Given the description of an element on the screen output the (x, y) to click on. 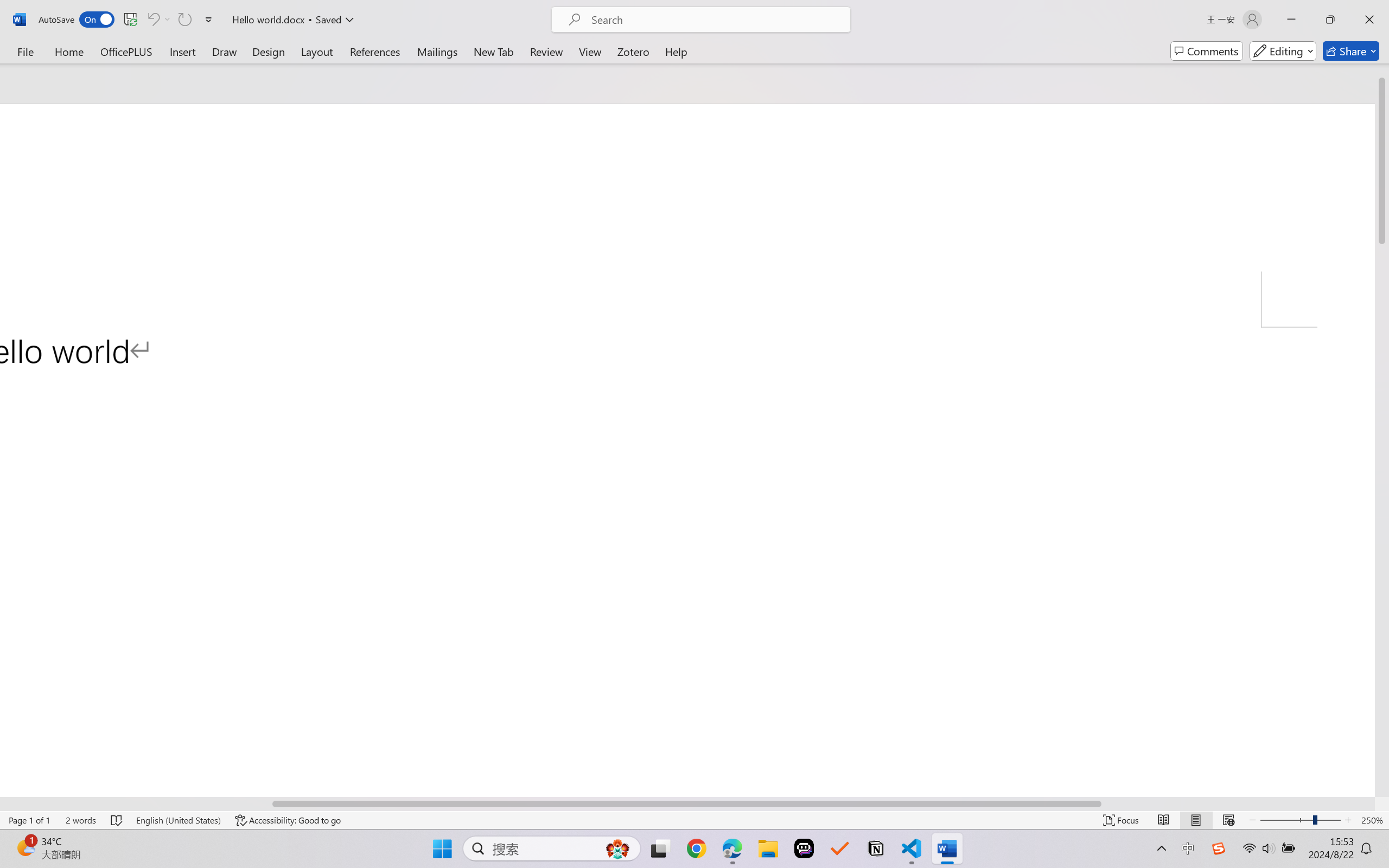
Print Layout (1196, 819)
Zoom (1300, 819)
AutomationID: BadgeAnchorLargeTicker (24, 847)
OfficePLUS (126, 51)
Insert (182, 51)
Quick Access Toolbar (127, 19)
Can't Undo (152, 19)
Draw (224, 51)
New Tab (493, 51)
Comments (1206, 50)
Can't Undo (158, 19)
Mailings (437, 51)
More Options (167, 19)
Close (1369, 19)
